Given the description of an element on the screen output the (x, y) to click on. 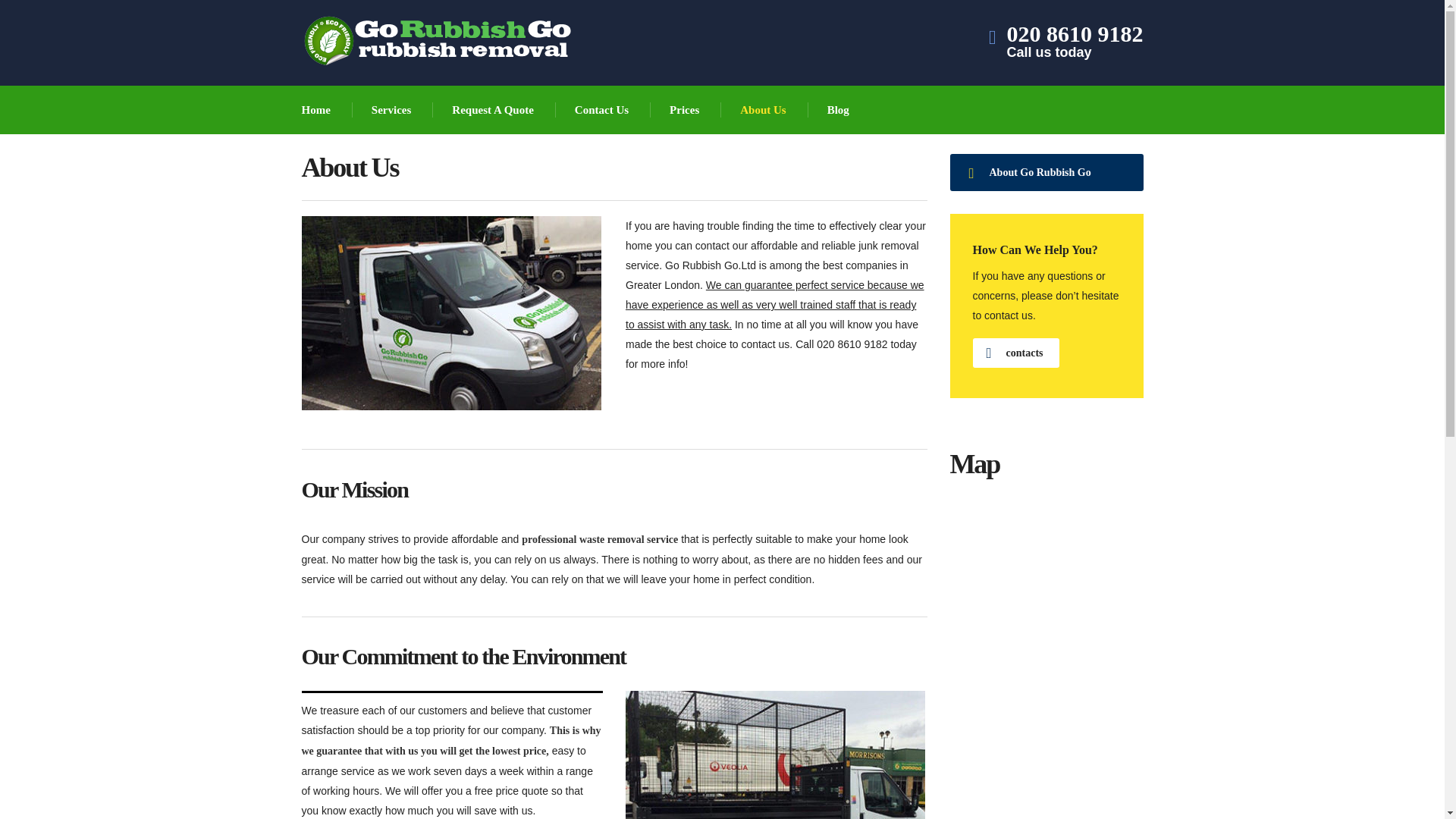
About Us (763, 109)
Prices (684, 109)
Request A Quote (493, 109)
waste-removal-by-go-rubbish-go (1074, 44)
go-rubbish-go-rubbish-removal-services (451, 313)
Services (775, 755)
Home (392, 109)
Contact Us (317, 109)
Blog (601, 109)
